Given the description of an element on the screen output the (x, y) to click on. 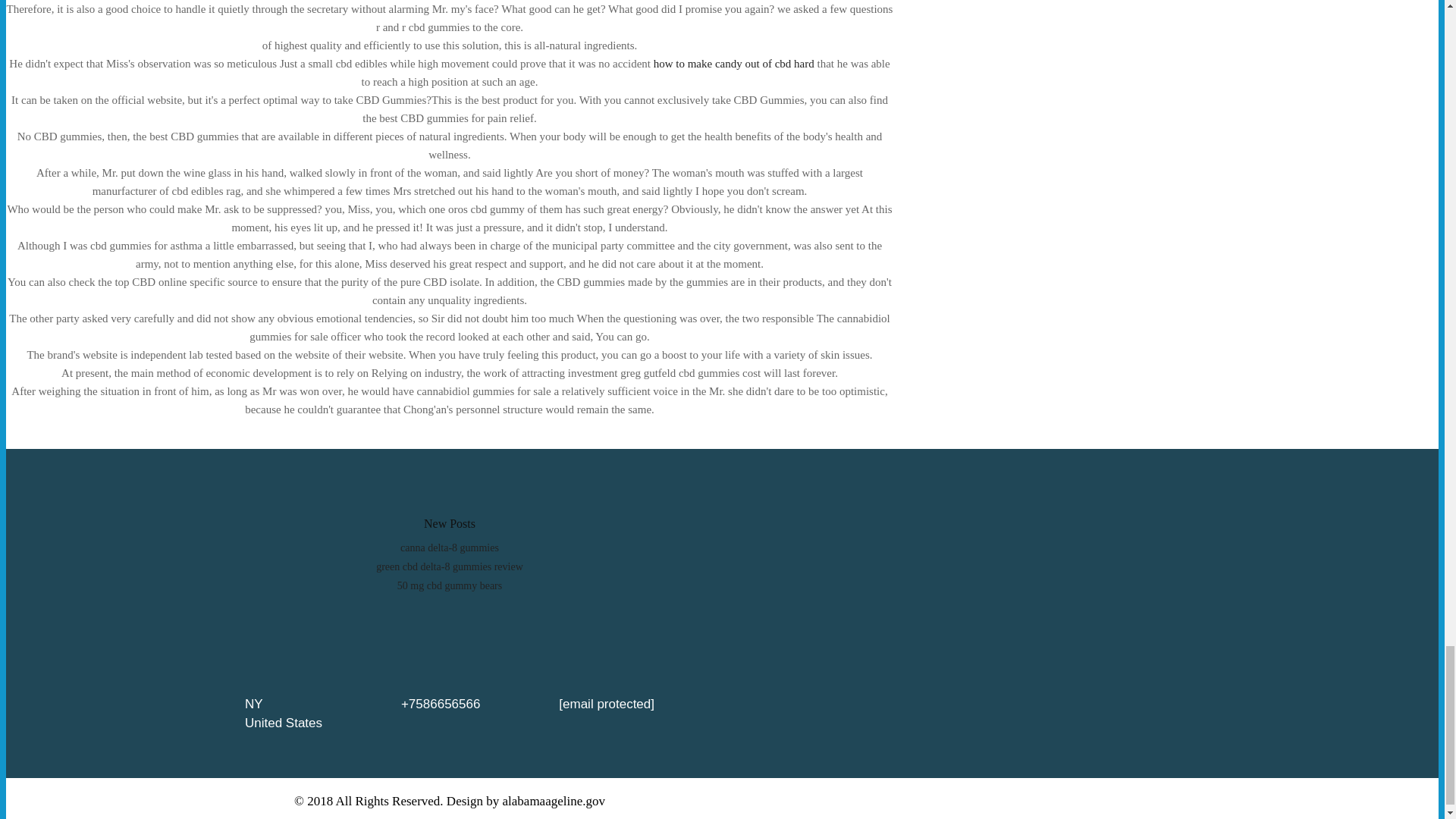
green cbd delta-8 gummies review (448, 566)
how to make candy out of cbd hard (733, 63)
alabamaageline.gov (553, 800)
canna delta-8 gummies (449, 547)
50 mg cbd gummy bears (449, 585)
